Given the description of an element on the screen output the (x, y) to click on. 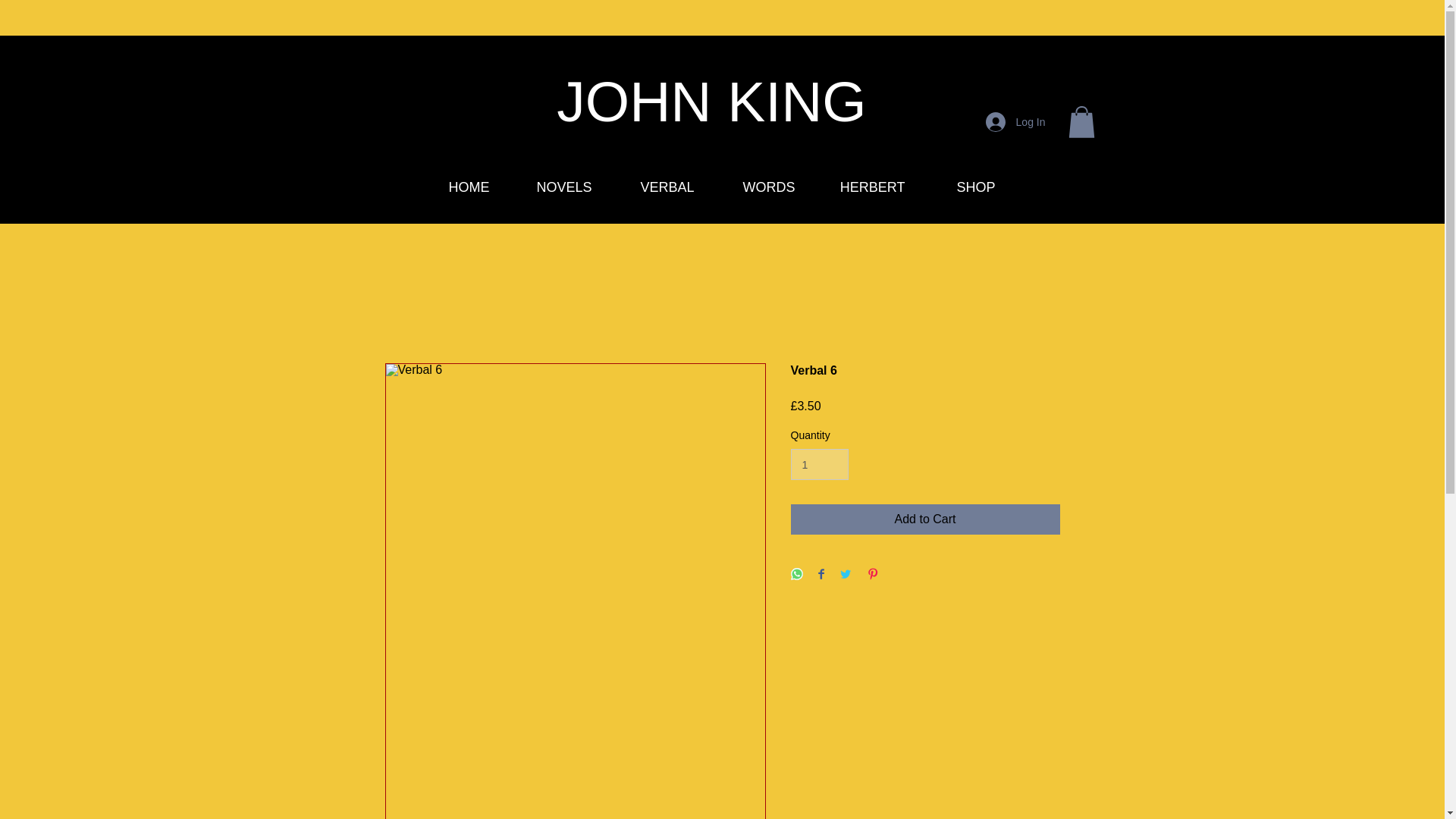
Log In (1016, 121)
Add to Cart (924, 519)
SHOP (960, 187)
VERBAL (655, 187)
1 (818, 463)
HERBERT (861, 187)
NOVELS (551, 187)
WORDS (755, 187)
HOME (453, 187)
JOHN KING (711, 101)
